Given the description of an element on the screen output the (x, y) to click on. 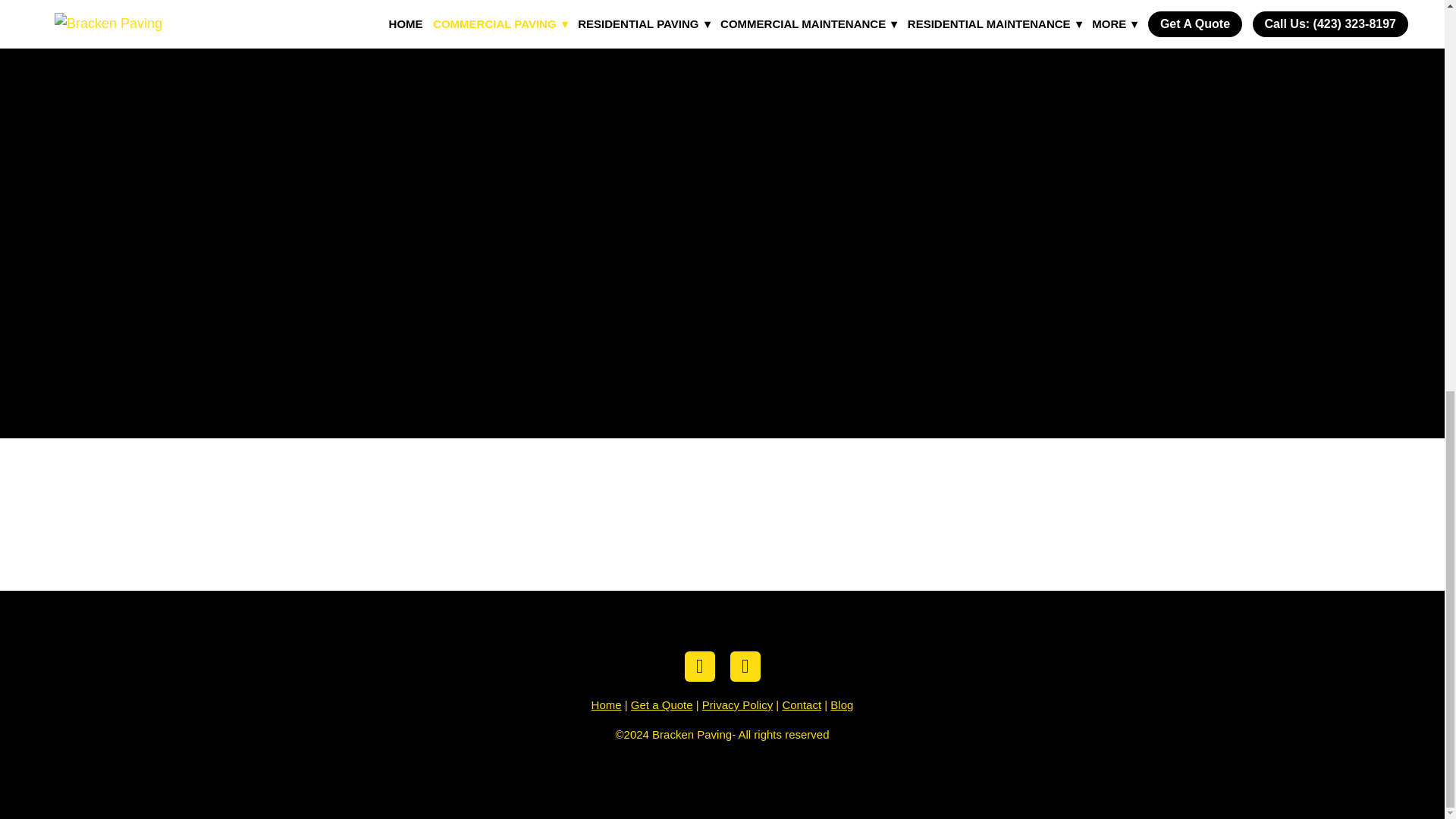
Get a Quote (661, 704)
Home (606, 704)
Blog (841, 704)
Contact (801, 704)
Privacy Policy (737, 704)
